Given the description of an element on the screen output the (x, y) to click on. 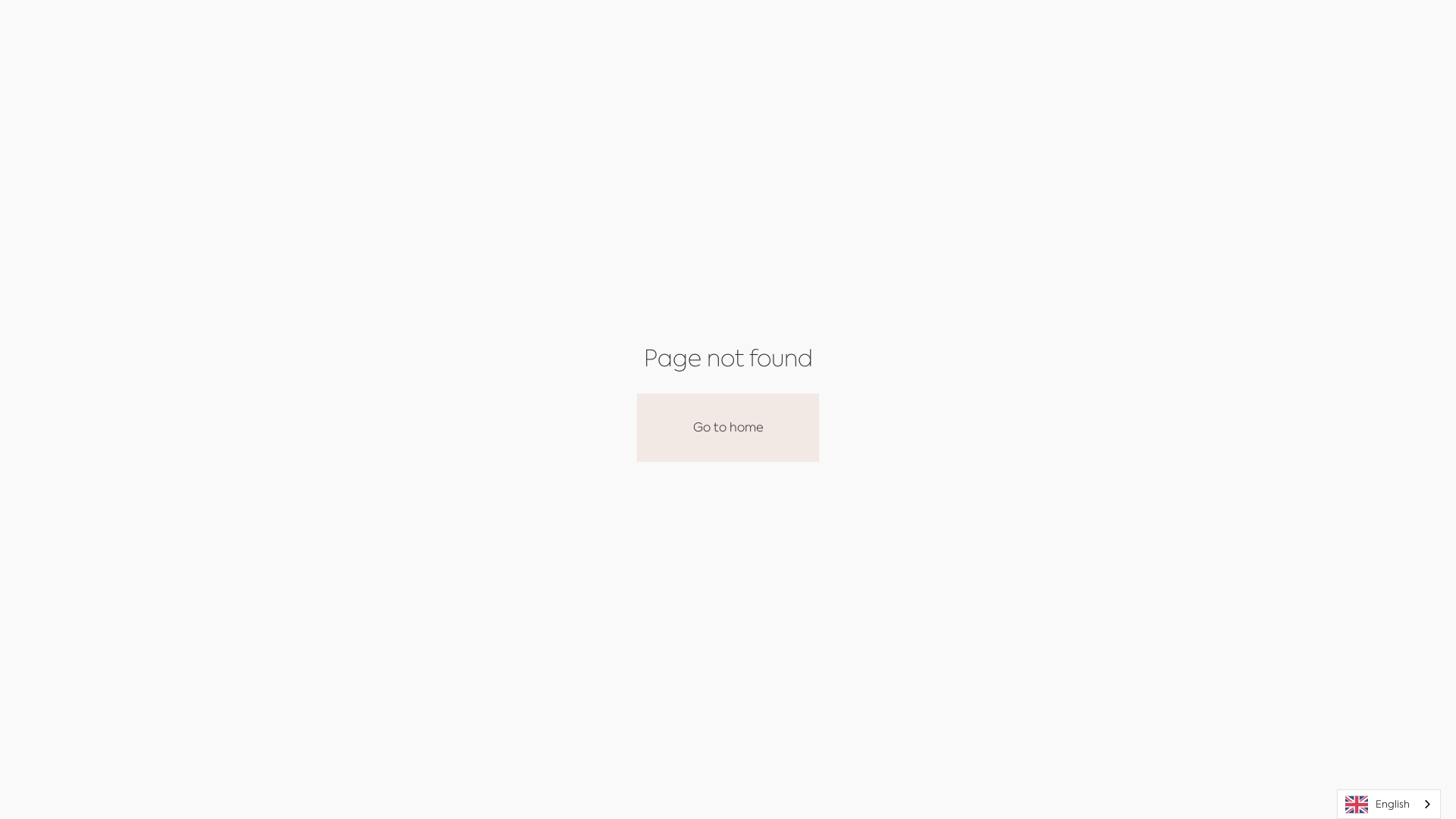
Go to home Element type: text (728, 427)
English Element type: text (1388, 804)
